Given the description of an element on the screen output the (x, y) to click on. 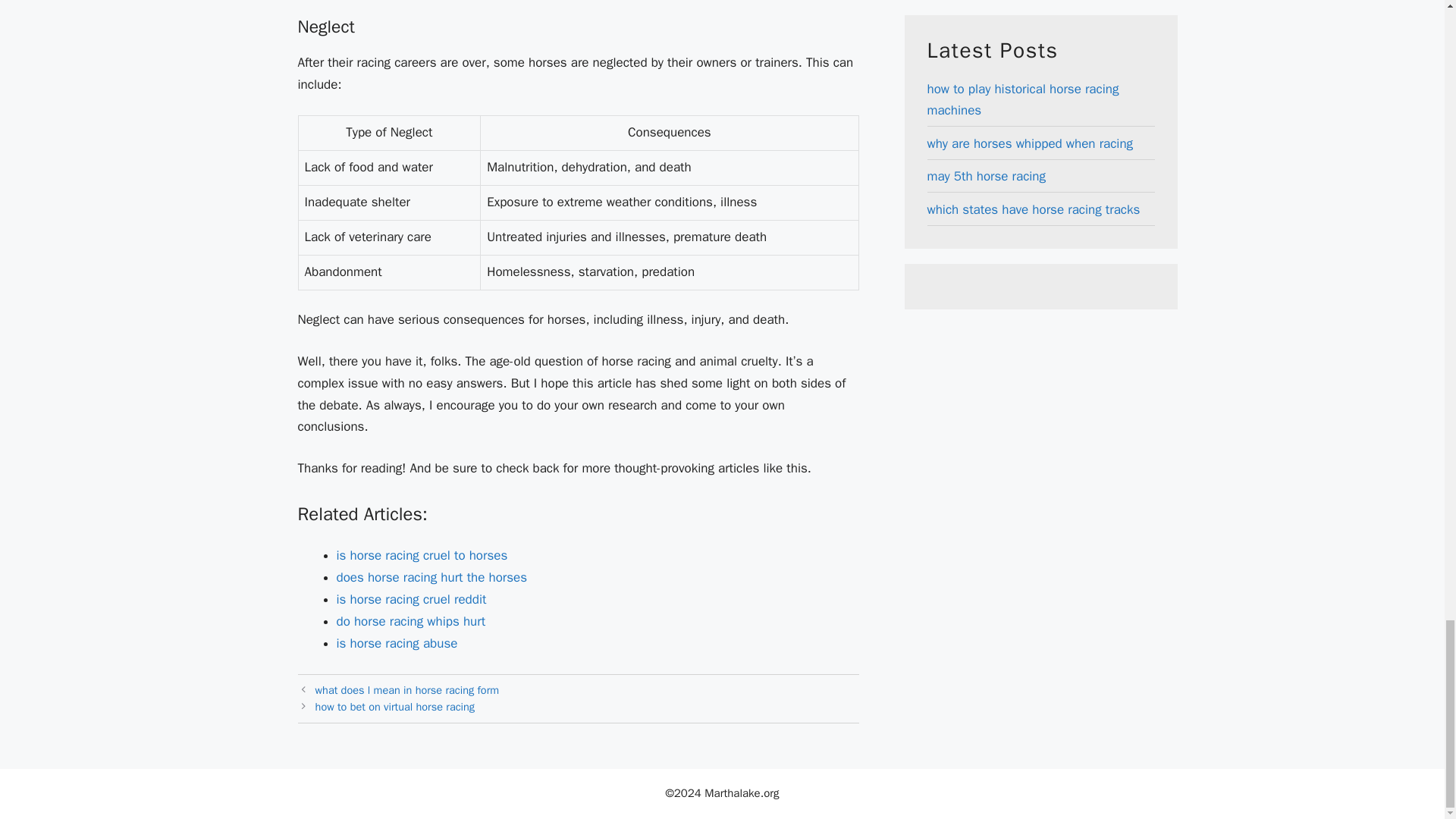
how to bet on virtual horse racing (394, 706)
is horse racing abuse (397, 643)
what does l mean in horse racing form (407, 689)
is horse racing cruel reddit (411, 599)
does horse racing hurt the horses (431, 577)
do horse racing whips hurt (411, 621)
is horse racing cruel to horses (422, 555)
